Given the description of an element on the screen output the (x, y) to click on. 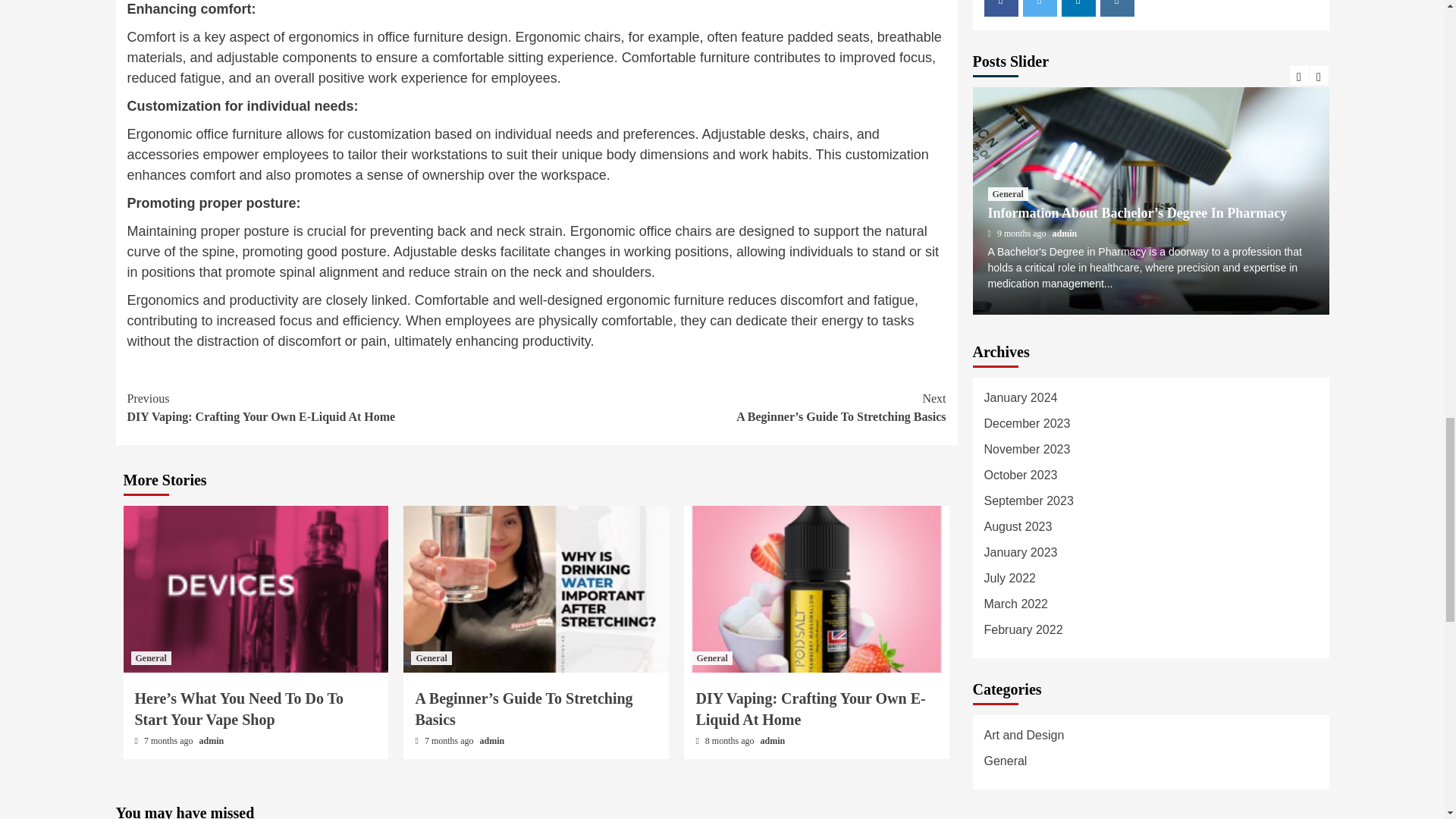
admin (211, 740)
General (150, 658)
admin (332, 407)
General (492, 740)
DIY Vaping: Crafting Your Own E-Liquid At Home (430, 658)
General (809, 709)
admin (711, 658)
